Given the description of an element on the screen output the (x, y) to click on. 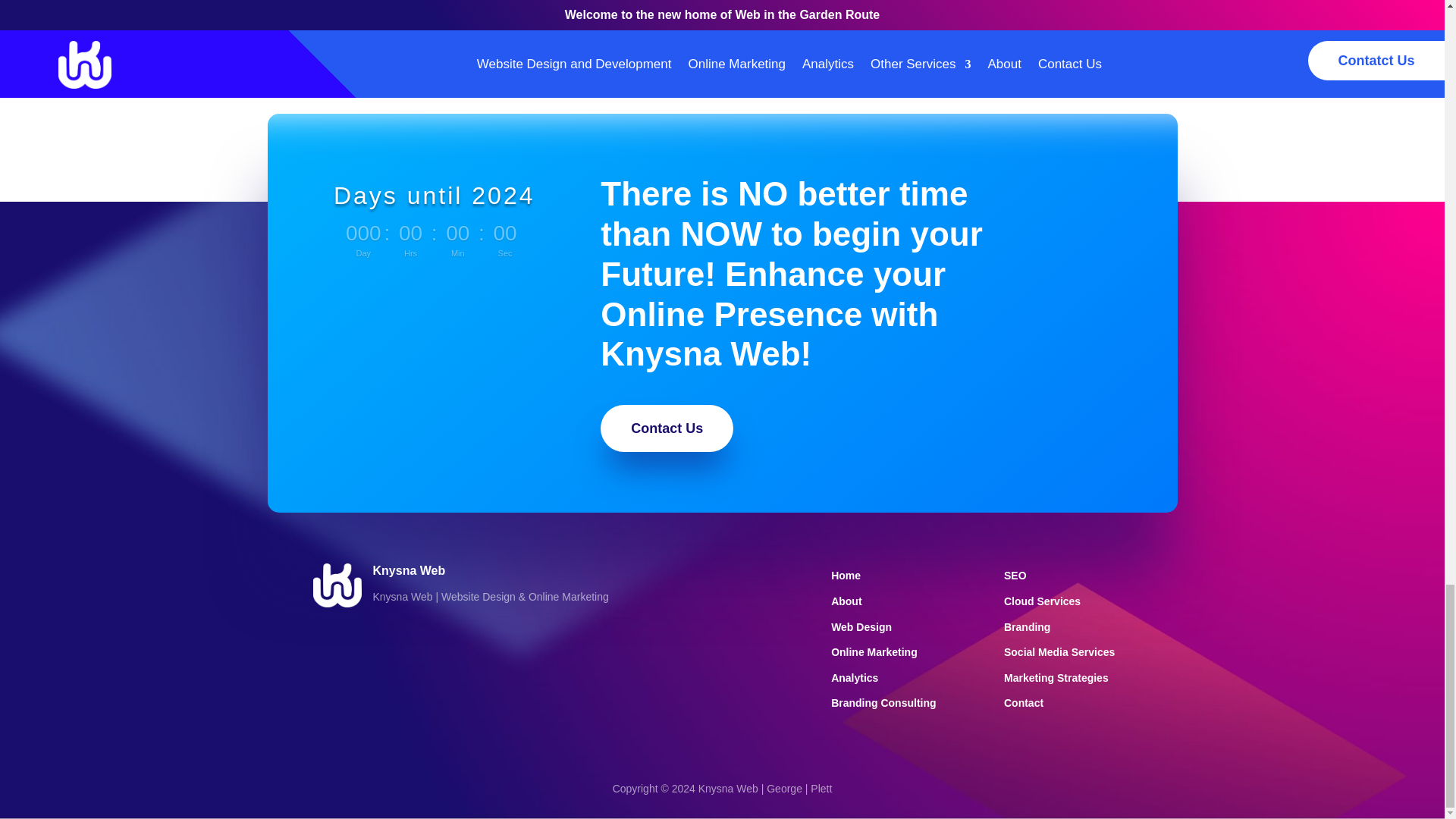
Social Media Services (1059, 652)
Online Marketing (874, 652)
SEO (1015, 575)
Contact (1023, 702)
Marketing Strategies (1056, 677)
Home (845, 575)
Cloud Services (1042, 601)
Branding (1026, 626)
Branding Consulting (883, 702)
About (846, 601)
Contact Us (666, 428)
Analytics (854, 677)
Web Design (861, 626)
